Given the description of an element on the screen output the (x, y) to click on. 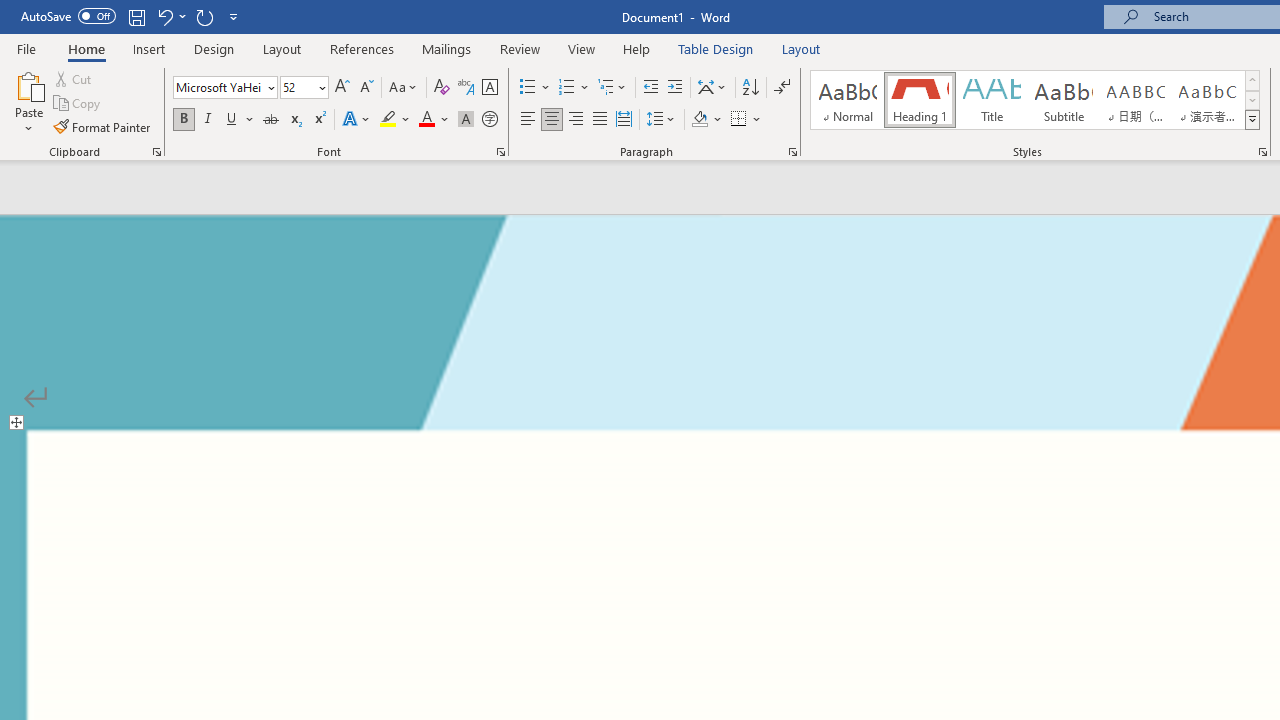
Paragraph... (792, 151)
Align Left (527, 119)
Enclose Characters... (489, 119)
Title (991, 100)
Undo Typing (164, 15)
